Given the description of an element on the screen output the (x, y) to click on. 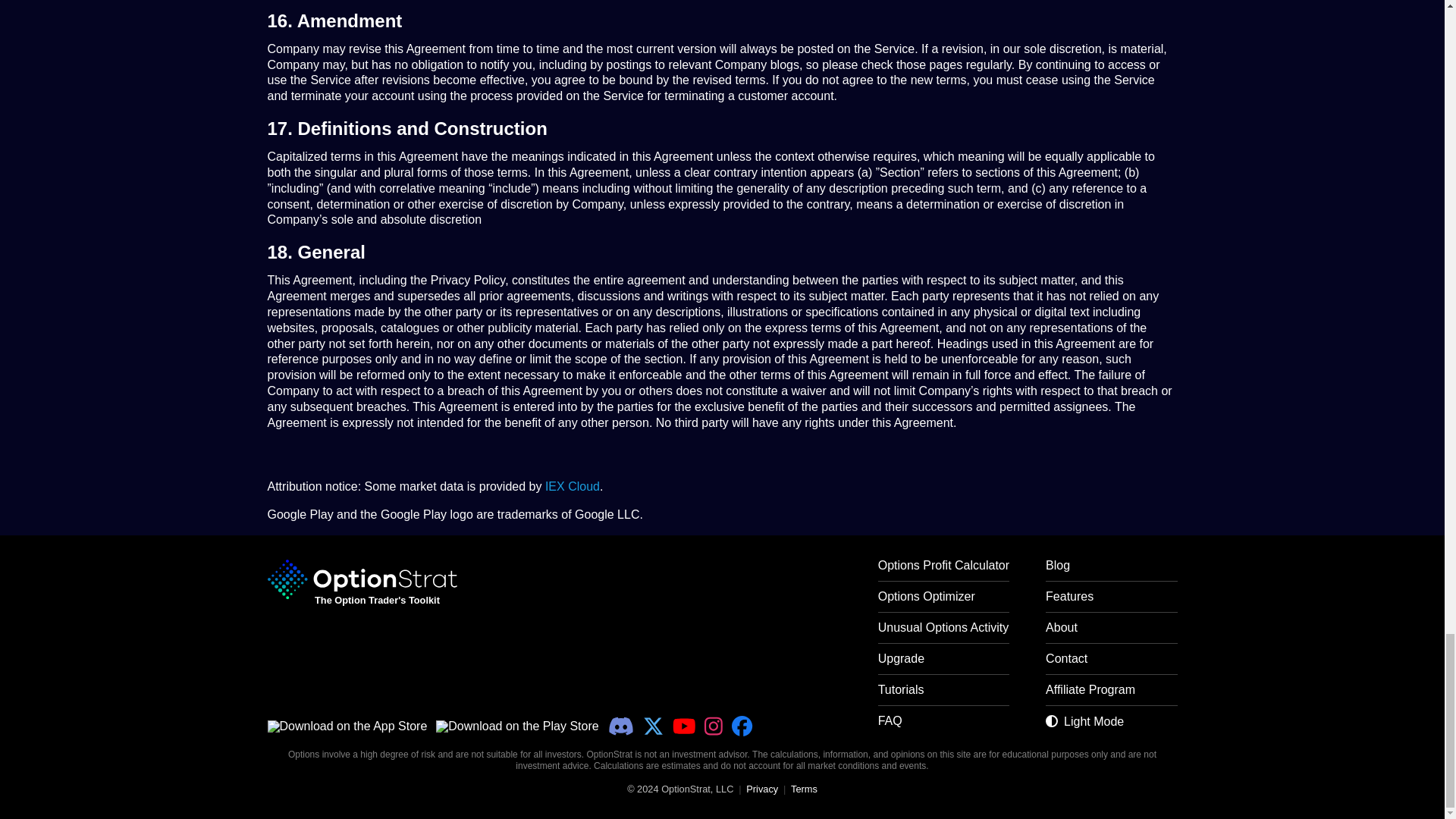
Follow us on Facebook (742, 726)
Follow us on X (653, 726)
Frequently Asked Questions (943, 725)
View our YouTube channel (683, 726)
Join our Discord chat (620, 726)
